Given the description of an element on the screen output the (x, y) to click on. 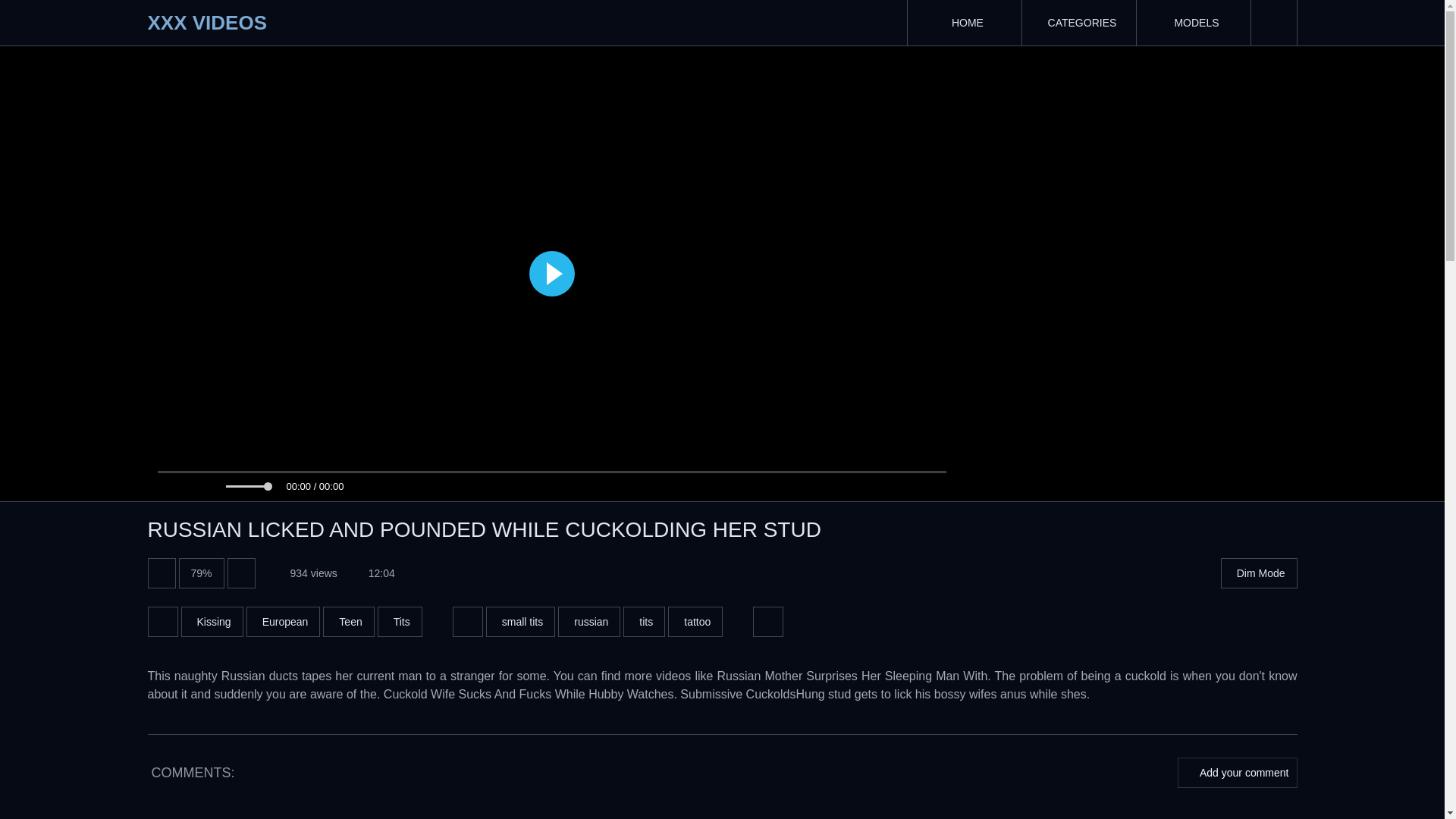
Enable Dim Mode (1259, 572)
CATEGORIES (1078, 22)
Tits (399, 621)
tits (644, 621)
XXX VIDEOS (206, 22)
Kissing (211, 621)
European (283, 621)
I LIKE IT! (160, 572)
Home (963, 22)
small tits (520, 621)
DISLIKE! (241, 572)
russian (588, 621)
HOME (963, 22)
tattoo (695, 621)
Categories (1078, 22)
